Given the description of an element on the screen output the (x, y) to click on. 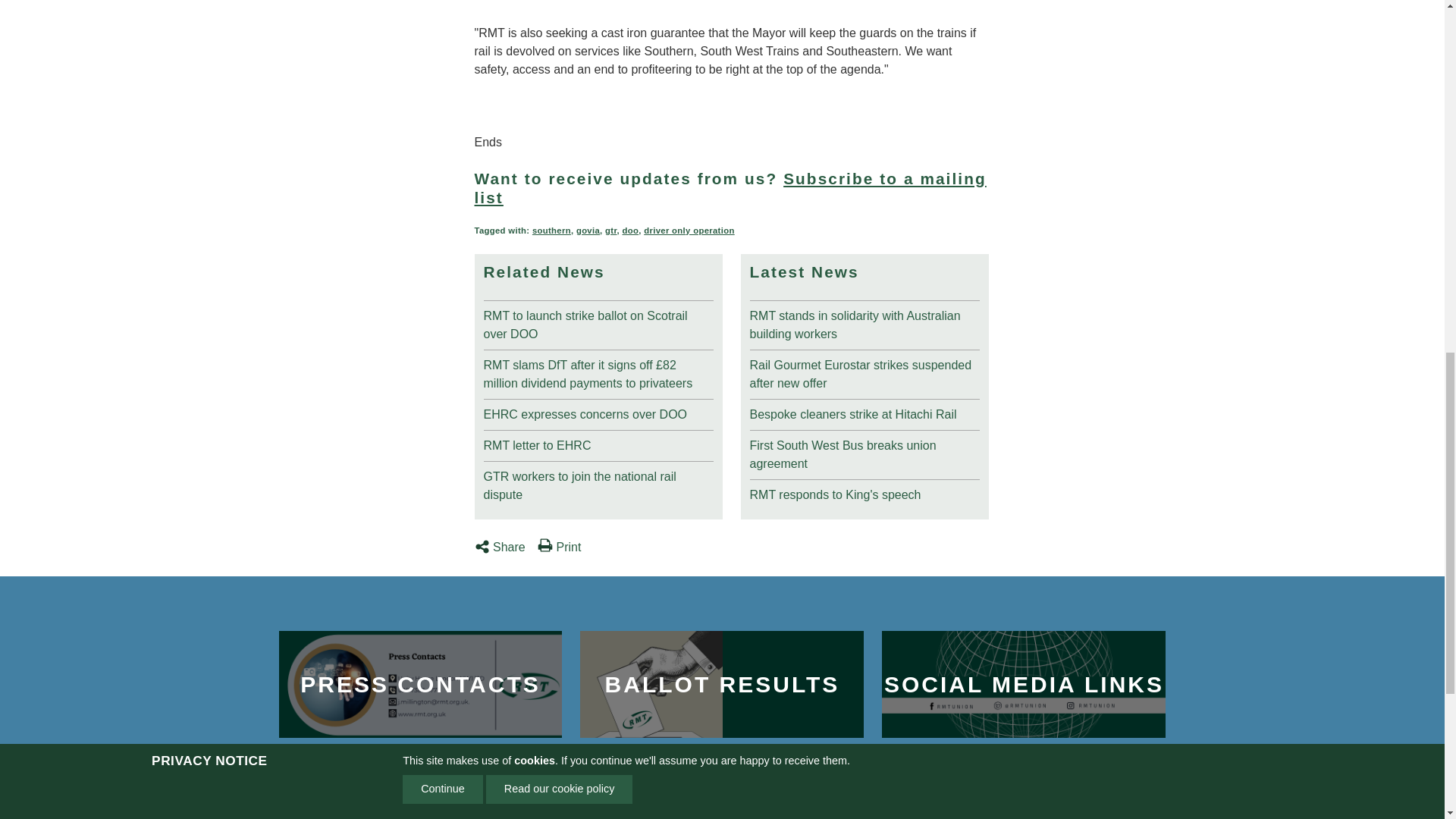
Subscribe to a mailing list (730, 187)
govia (587, 230)
RMT to launch strike ballot on Scotrail over DOO (598, 321)
news (598, 321)
southern (551, 230)
news (598, 482)
driver only operation (689, 230)
EHRC expresses concerns over DOO (598, 411)
news (863, 321)
news (598, 371)
news (598, 442)
gtr (610, 230)
doo (630, 230)
news (598, 411)
